Given the description of an element on the screen output the (x, y) to click on. 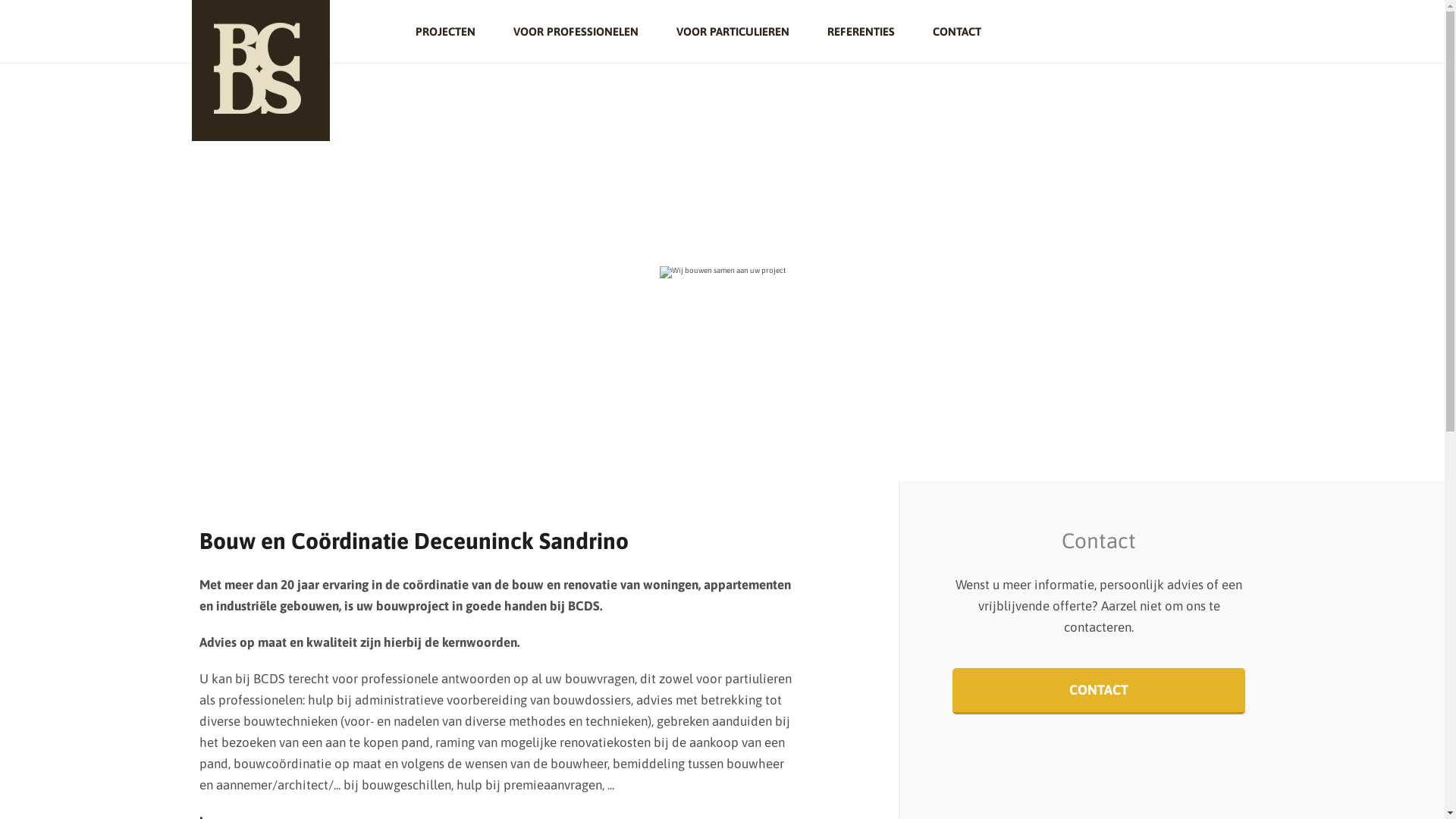
BCDS BV Element type: hover (260, 70)
Wij bouwen samen aan uw project Element type: hover (722, 272)
PROJECTEN Element type: text (454, 31)
VOOR PARTICULIEREN Element type: text (732, 31)
VOOR PROFESSIONELEN Element type: text (575, 31)
REFERENTIES Element type: text (860, 31)
CONTACT Element type: text (947, 31)
